Given the description of an element on the screen output the (x, y) to click on. 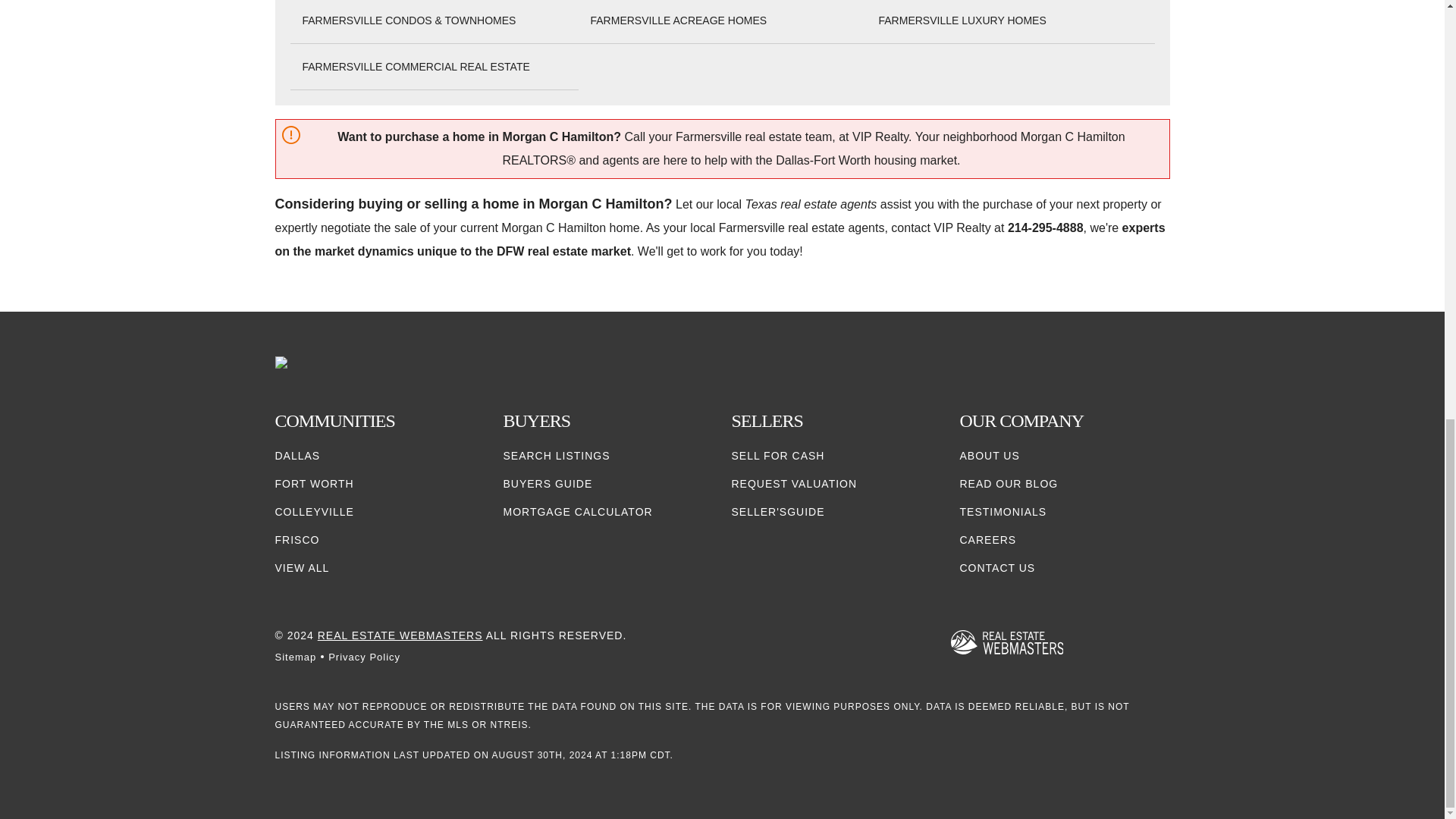
Farmersville Acreage Homes (678, 20)
Farmersville commercial real esate (415, 66)
Farmersville Condos Townhomes (408, 20)
Farmersville Luxury Homes (961, 20)
